Given the description of an element on the screen output the (x, y) to click on. 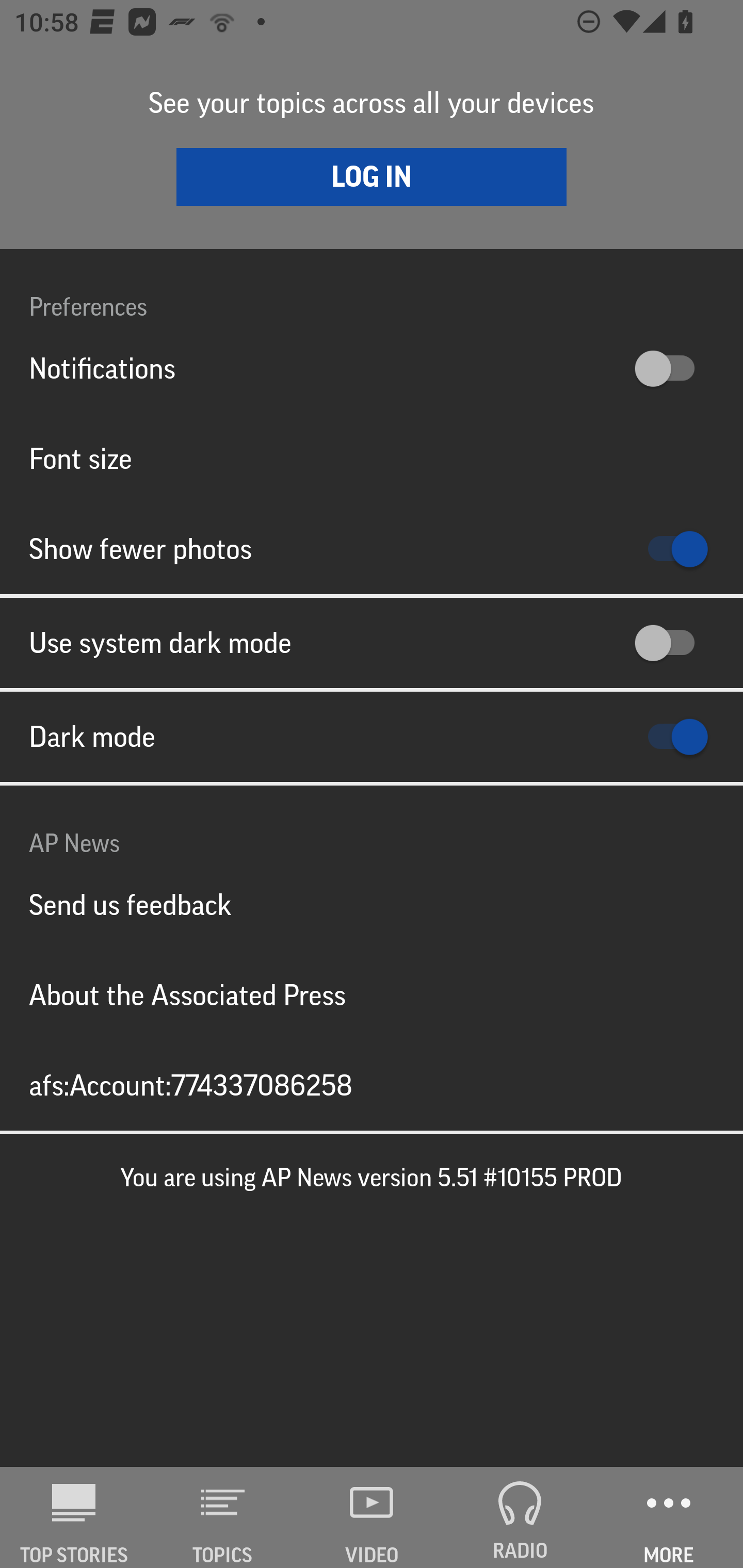
LOG IN (371, 176)
Notifications (371, 368)
Font size (371, 458)
Show fewer photos (371, 548)
Use system dark mode (371, 642)
Dark mode (371, 736)
Send us feedback (371, 904)
About the Associated Press (371, 994)
afs:Account:774337086258 (371, 1084)
AP News TOP STORIES (74, 1517)
TOPICS (222, 1517)
VIDEO (371, 1517)
RADIO (519, 1517)
MORE (668, 1517)
